Given the description of an element on the screen output the (x, y) to click on. 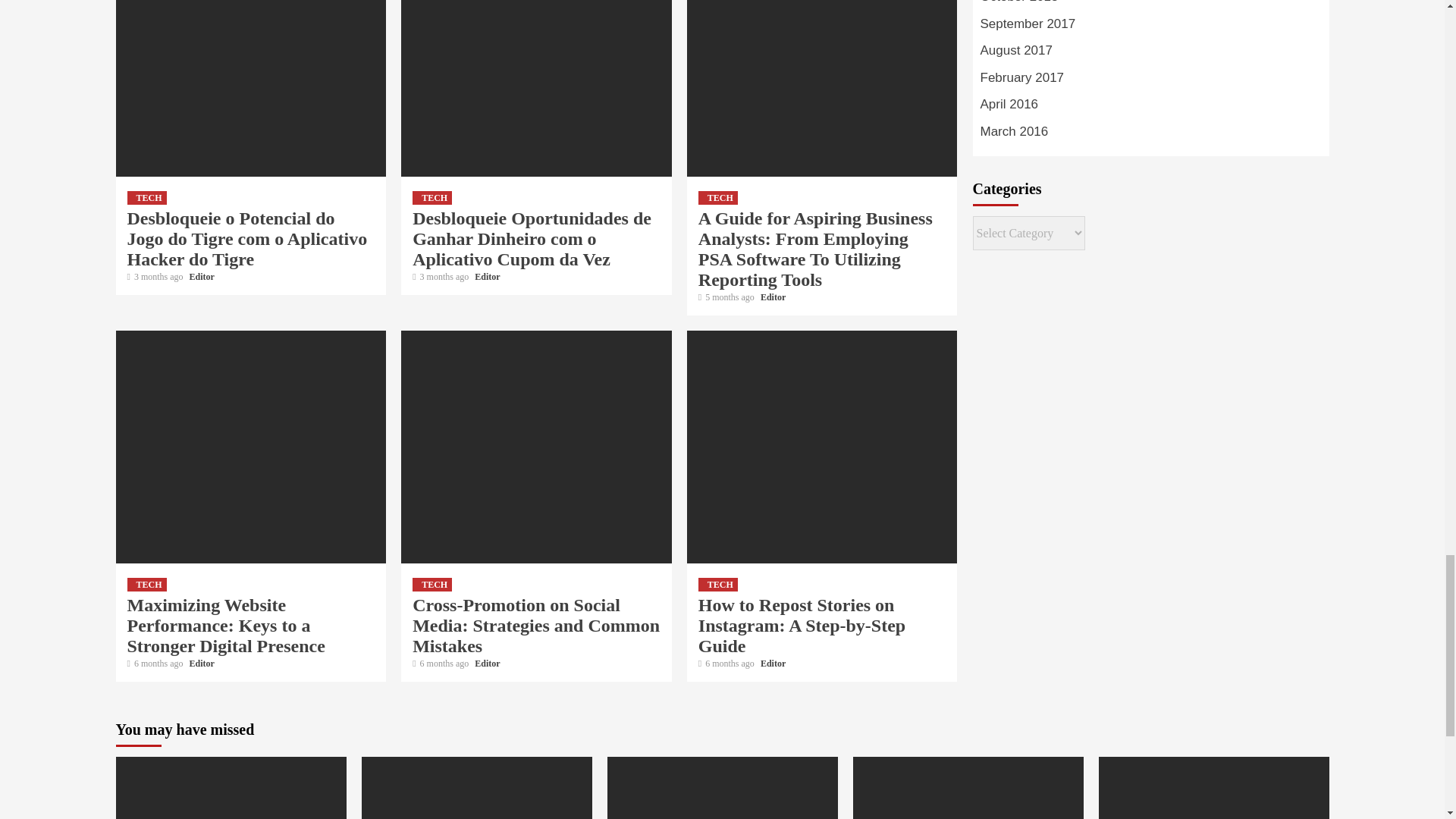
Editor (201, 276)
TECH (147, 197)
